Given the description of an element on the screen output the (x, y) to click on. 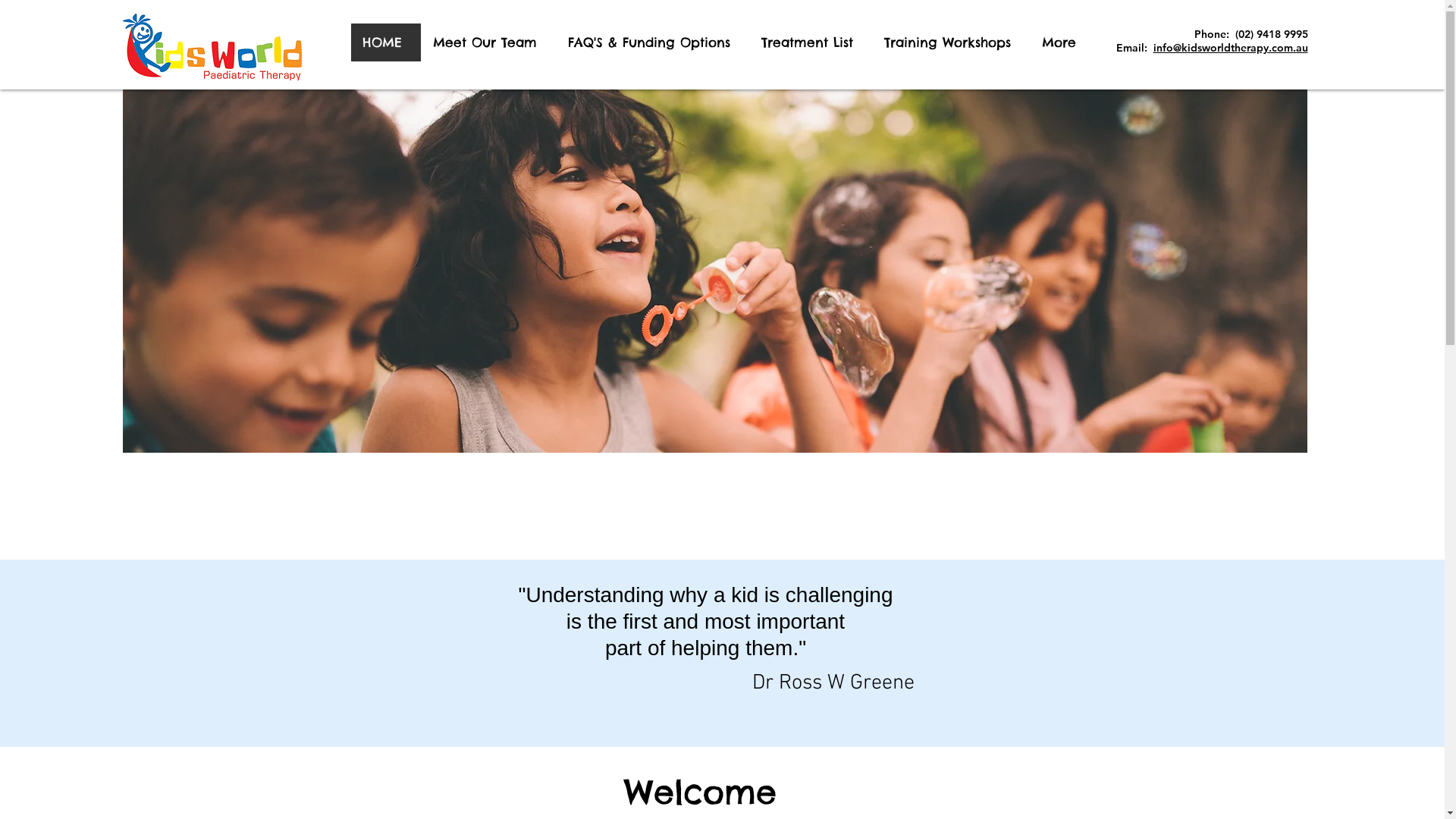
Treatment List Element type: text (810, 42)
HOME Element type: text (385, 42)
Meet Our Team Element type: text (487, 42)
FAQ'S & Funding Options Element type: text (651, 42)
info@kidsworldtherapy.com.au Element type: text (1229, 47)
